Given the description of an element on the screen output the (x, y) to click on. 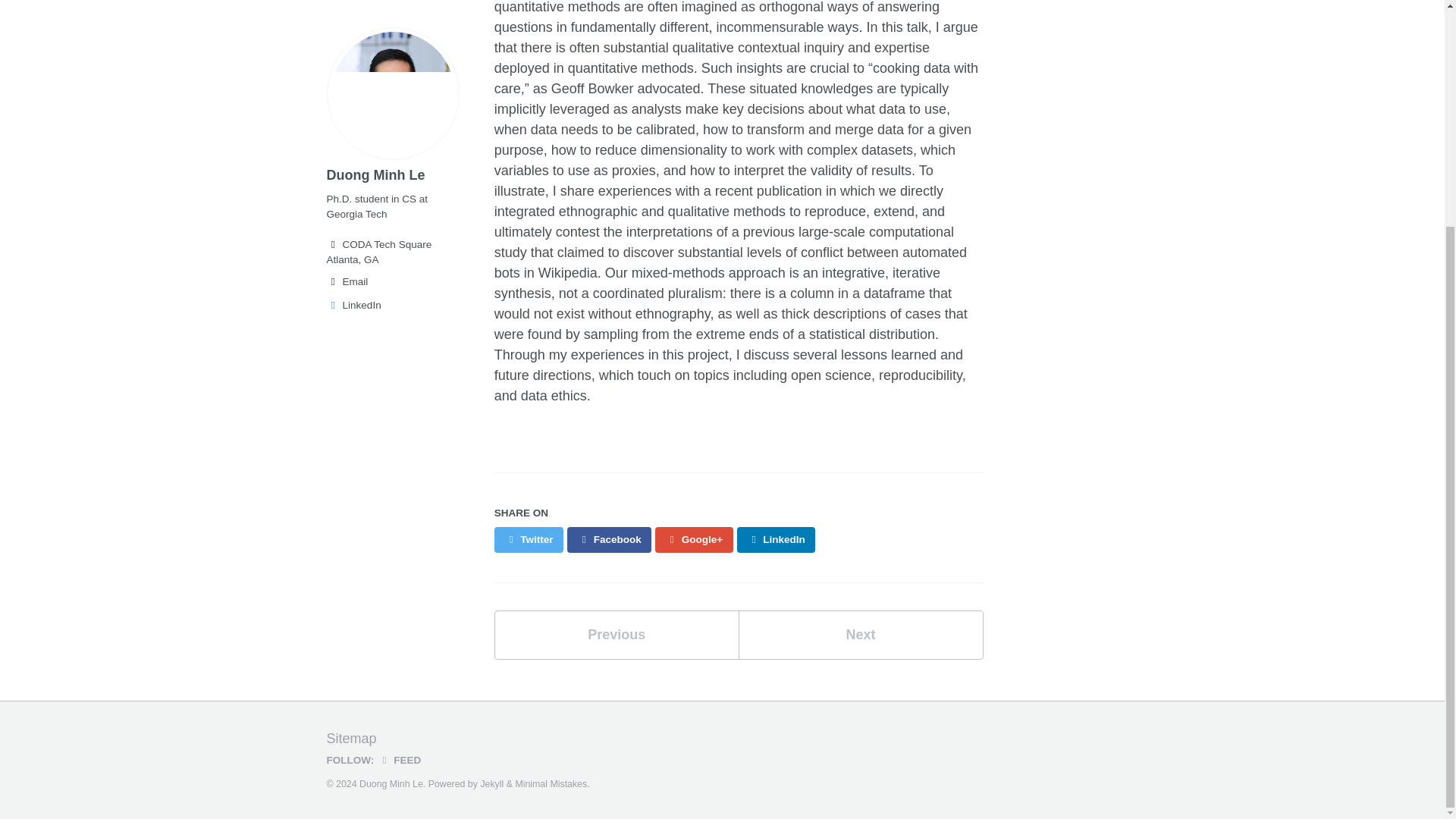
LinkedIn (775, 539)
Share on Twitter (529, 539)
Facebook (608, 539)
Previous (617, 635)
Twitter (529, 539)
Share on Google Plus (693, 539)
Jekyll (491, 783)
Minimal Mistakes (550, 783)
Share on LinkedIn (775, 539)
Sitemap (350, 738)
